Given the description of an element on the screen output the (x, y) to click on. 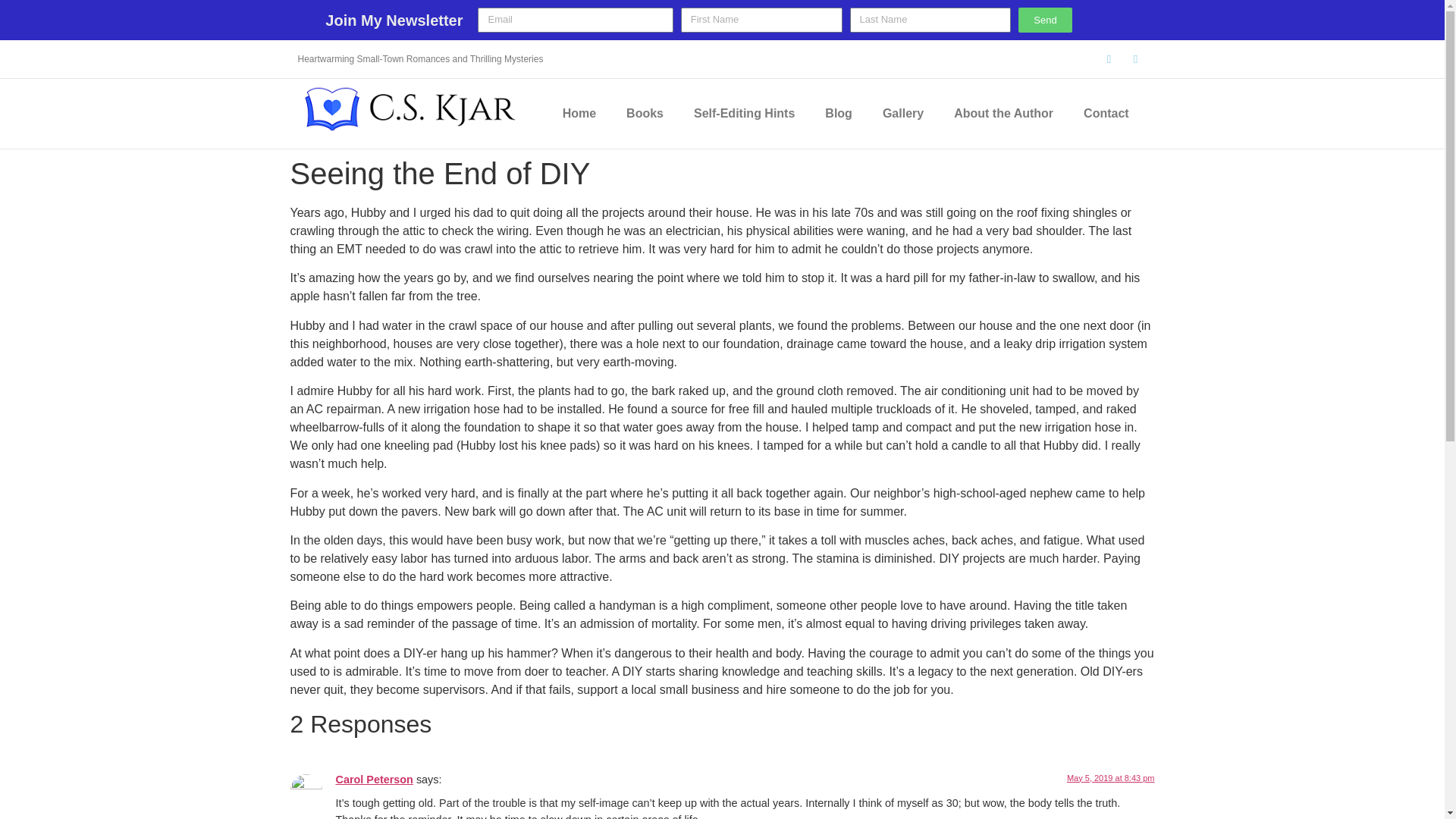
Contact (1106, 113)
Blog (838, 113)
Self-Editing Hints (743, 113)
Send (1044, 19)
Carol Peterson (373, 779)
May 5, 2019 at 8:43 pm (1110, 777)
Books (644, 113)
About the Author (1003, 113)
Gallery (903, 113)
Home (579, 113)
